Given the description of an element on the screen output the (x, y) to click on. 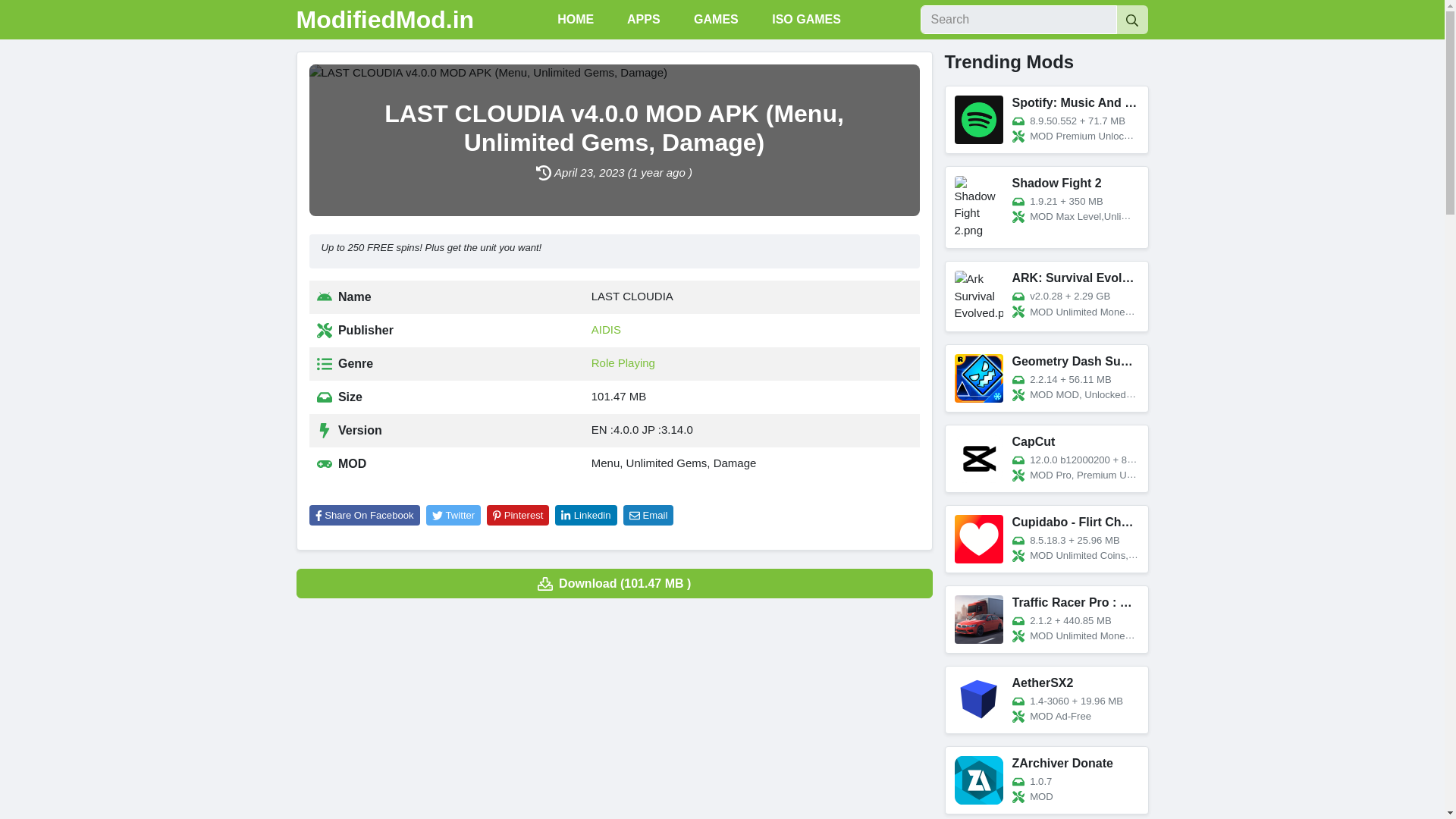
AIDIS (606, 328)
Share On Facebook (364, 515)
Linkedin (584, 515)
Email (648, 515)
ModifiedMod.in (384, 19)
Role Playing (623, 362)
 GAMES (714, 19)
 APPS (641, 19)
 HOME (573, 19)
Developer by AIDIS (606, 328)
Pinterest (517, 515)
 ISO GAMES (805, 19)
Twitter (453, 515)
Advertisement (613, 717)
